Given the description of an element on the screen output the (x, y) to click on. 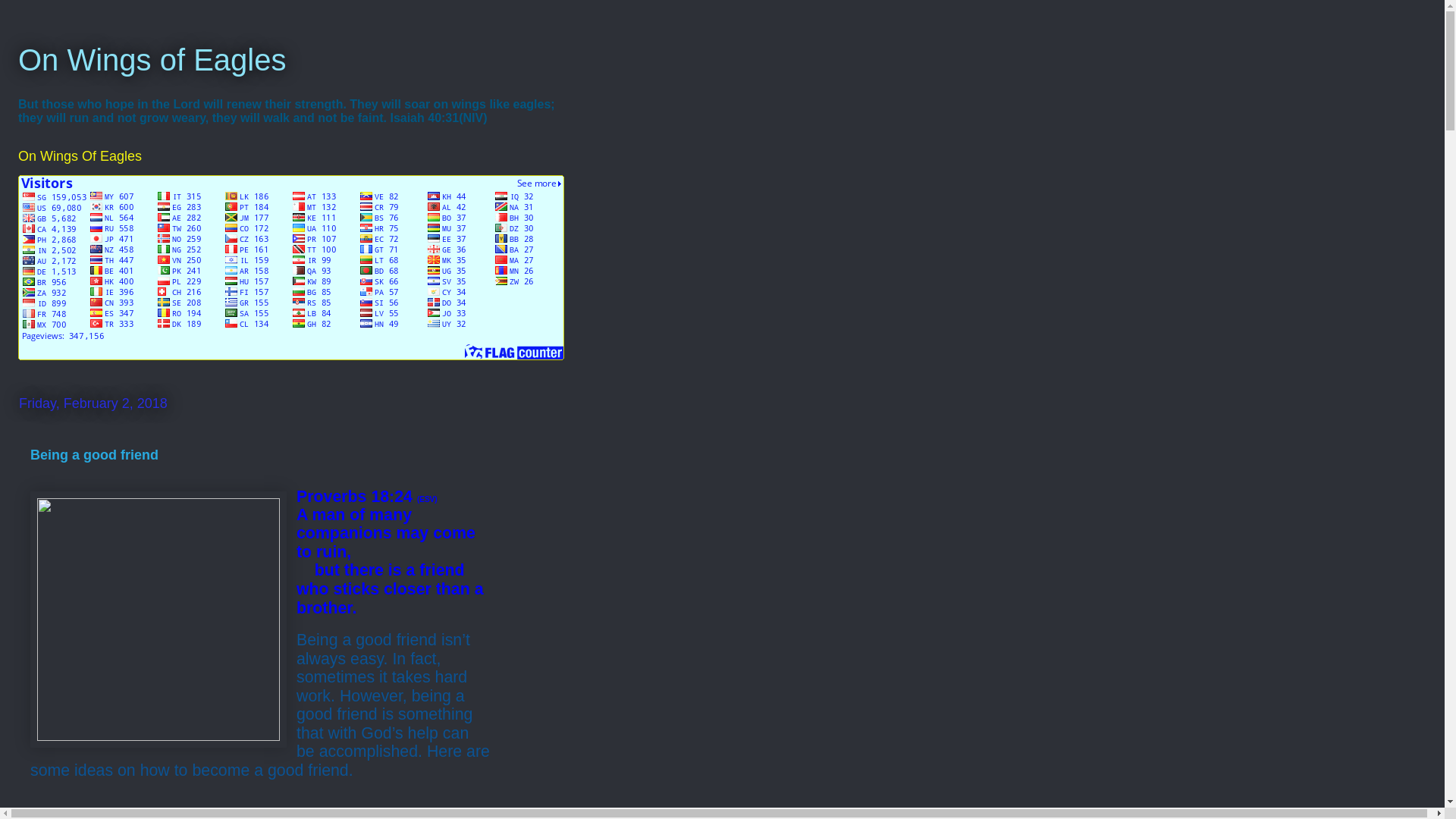
On Wings of Eagles (151, 59)
